Given the description of an element on the screen output the (x, y) to click on. 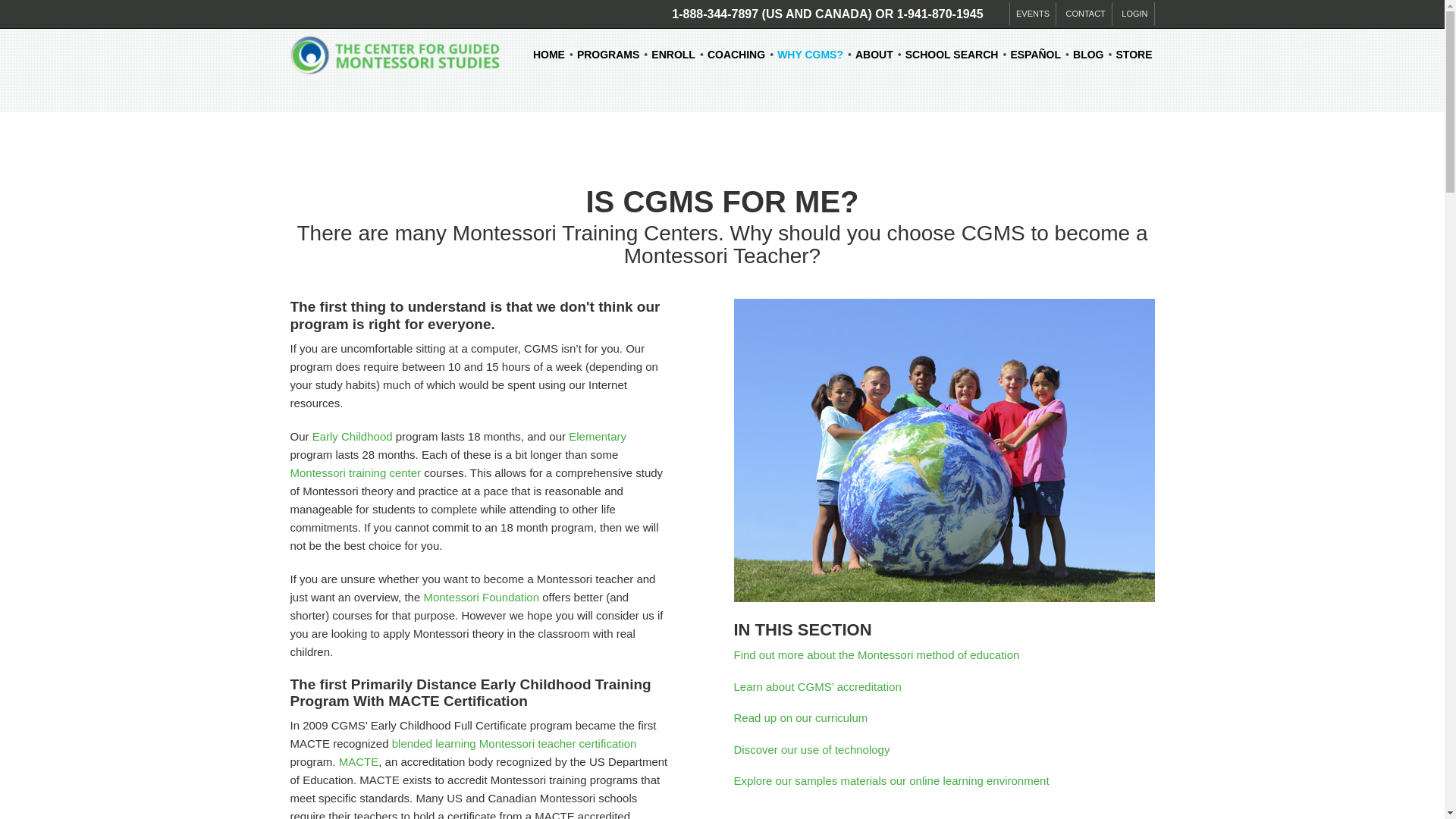
EVENTS (1033, 13)
PROGRAMS (607, 54)
Montessori training center (354, 472)
blended learning Montessori teacher certification (514, 743)
ABOUT (873, 54)
WHY CGMS? (809, 54)
MACTE (358, 761)
Montessori training center (354, 472)
1-941-870-1945 (940, 13)
Montessori Foundation (480, 596)
